Given the description of an element on the screen output the (x, y) to click on. 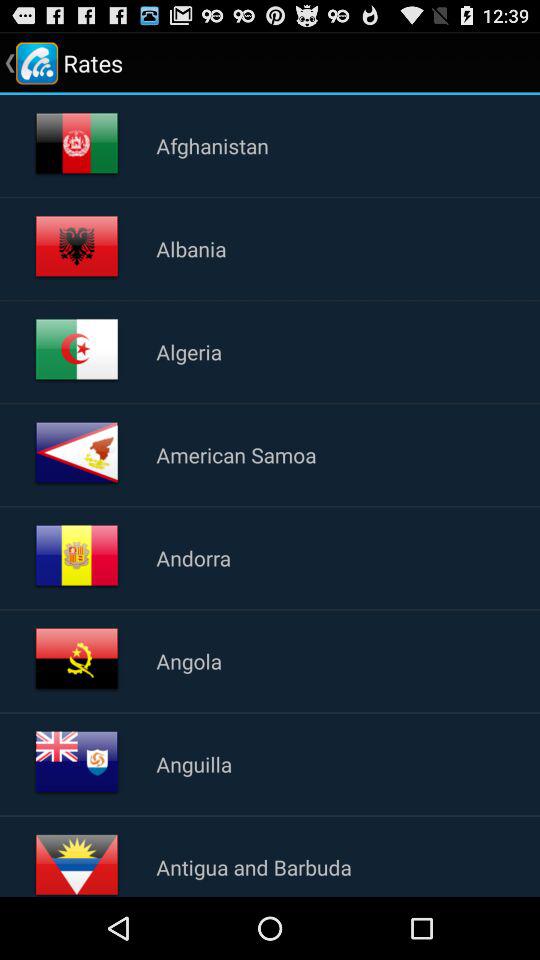
tap the andorra icon (193, 557)
